Given the description of an element on the screen output the (x, y) to click on. 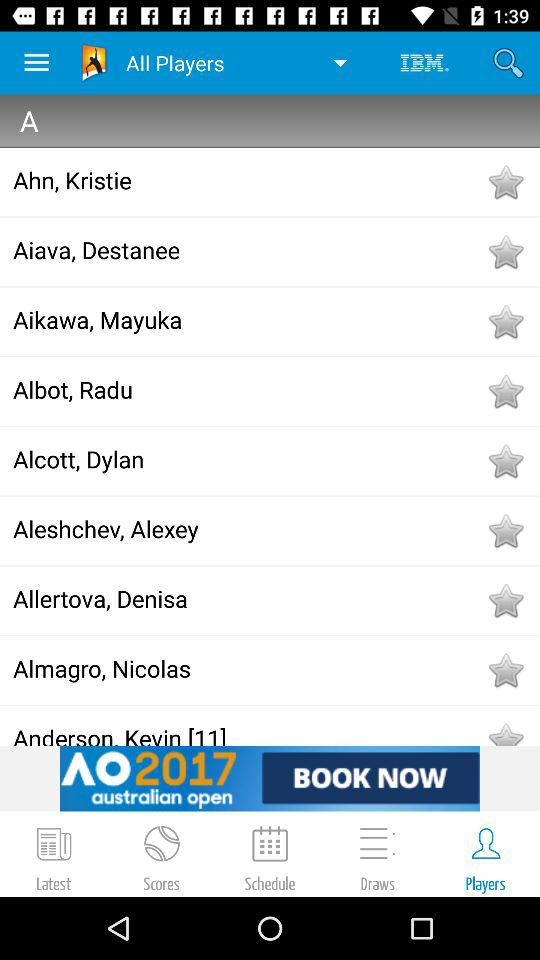
choose the item below the anderson, kevin [11] item (270, 778)
